Given the description of an element on the screen output the (x, y) to click on. 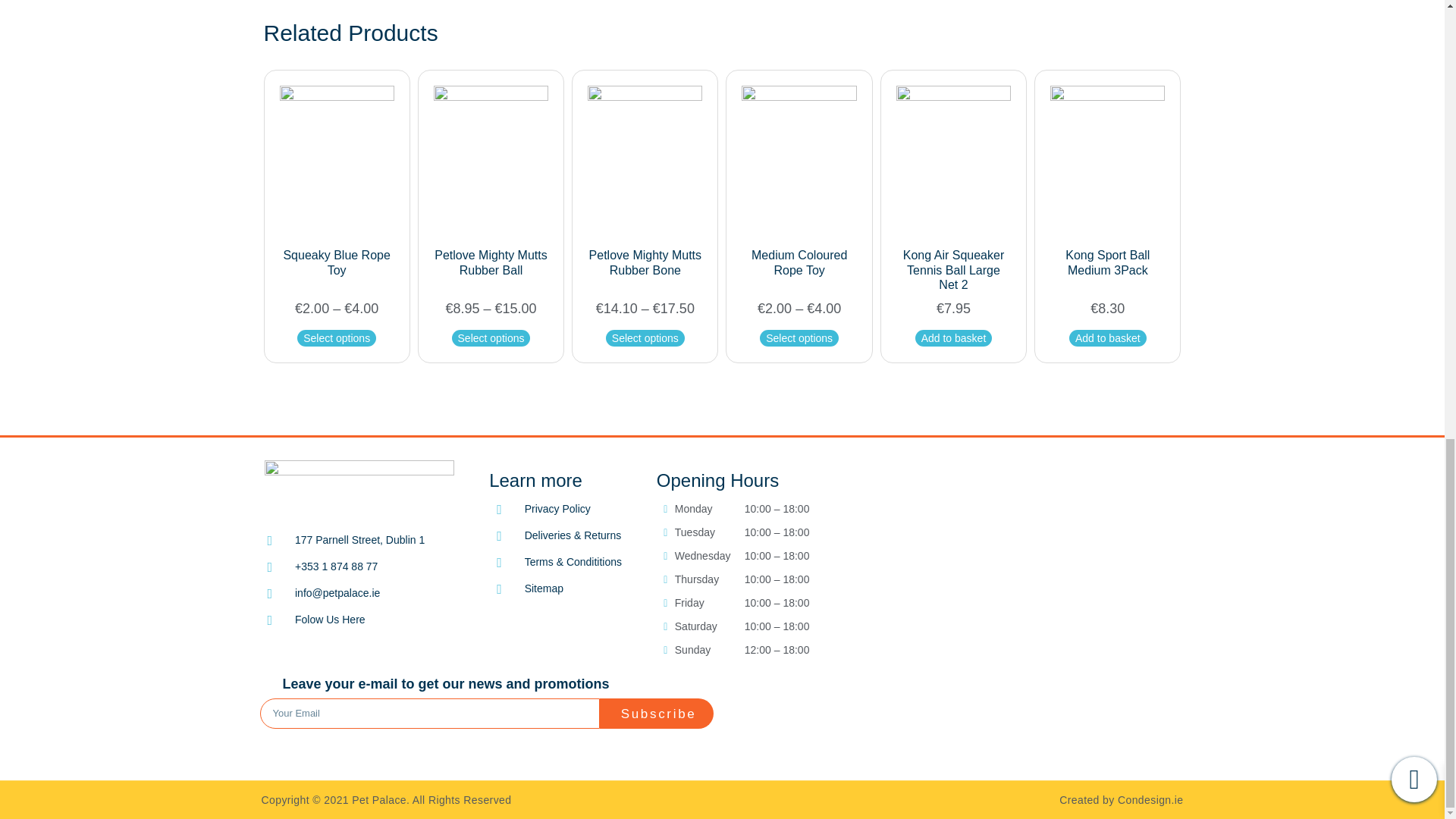
Pet Palace, 177 Parnell Street, Rotunda, Dublin 1 (1026, 612)
